Given the description of an element on the screen output the (x, y) to click on. 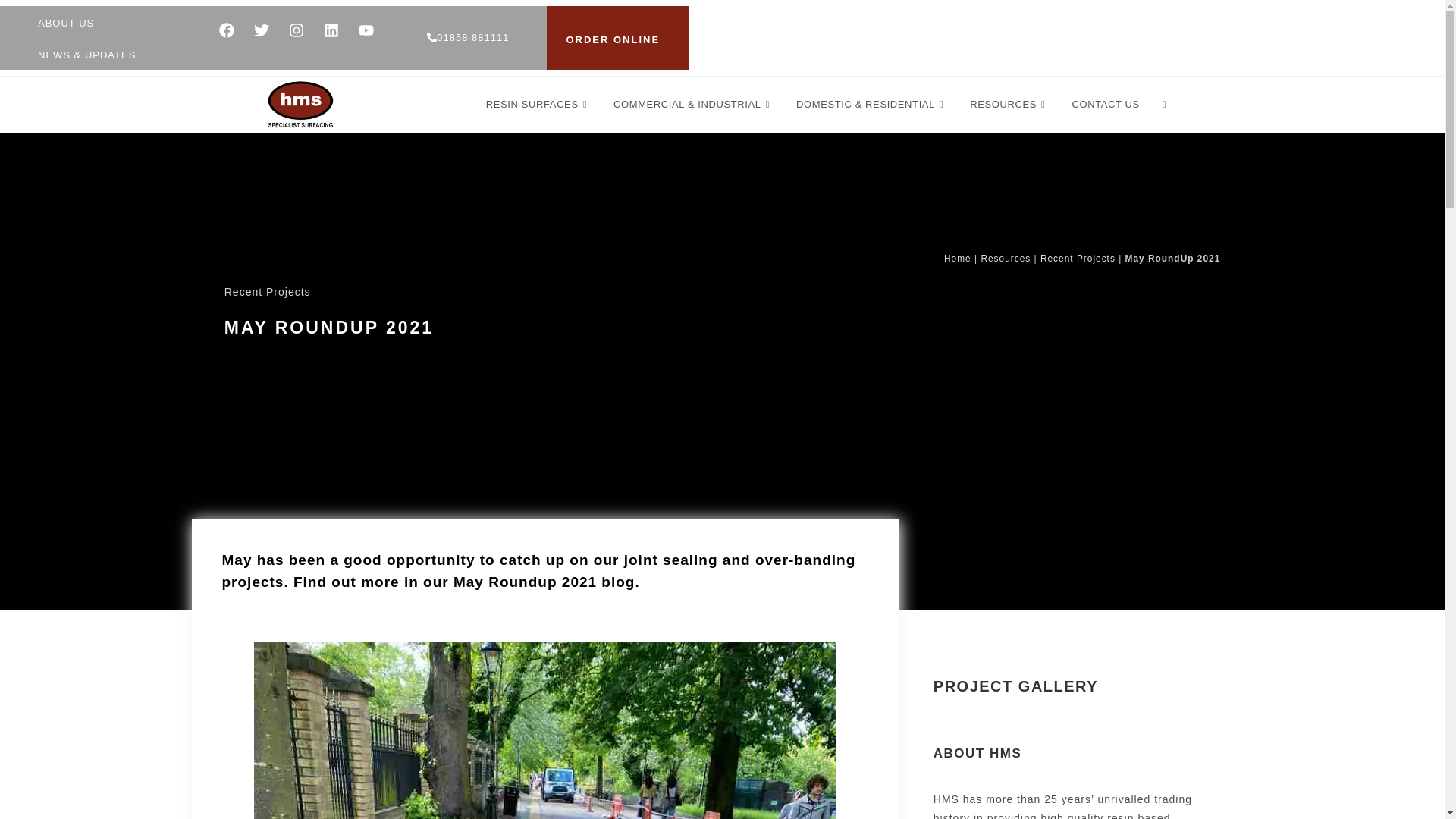
ORDER ONLINE (612, 40)
ABOUT US (65, 22)
RESIN SURFACES (538, 104)
01858 881111 (467, 38)
